Given the description of an element on the screen output the (x, y) to click on. 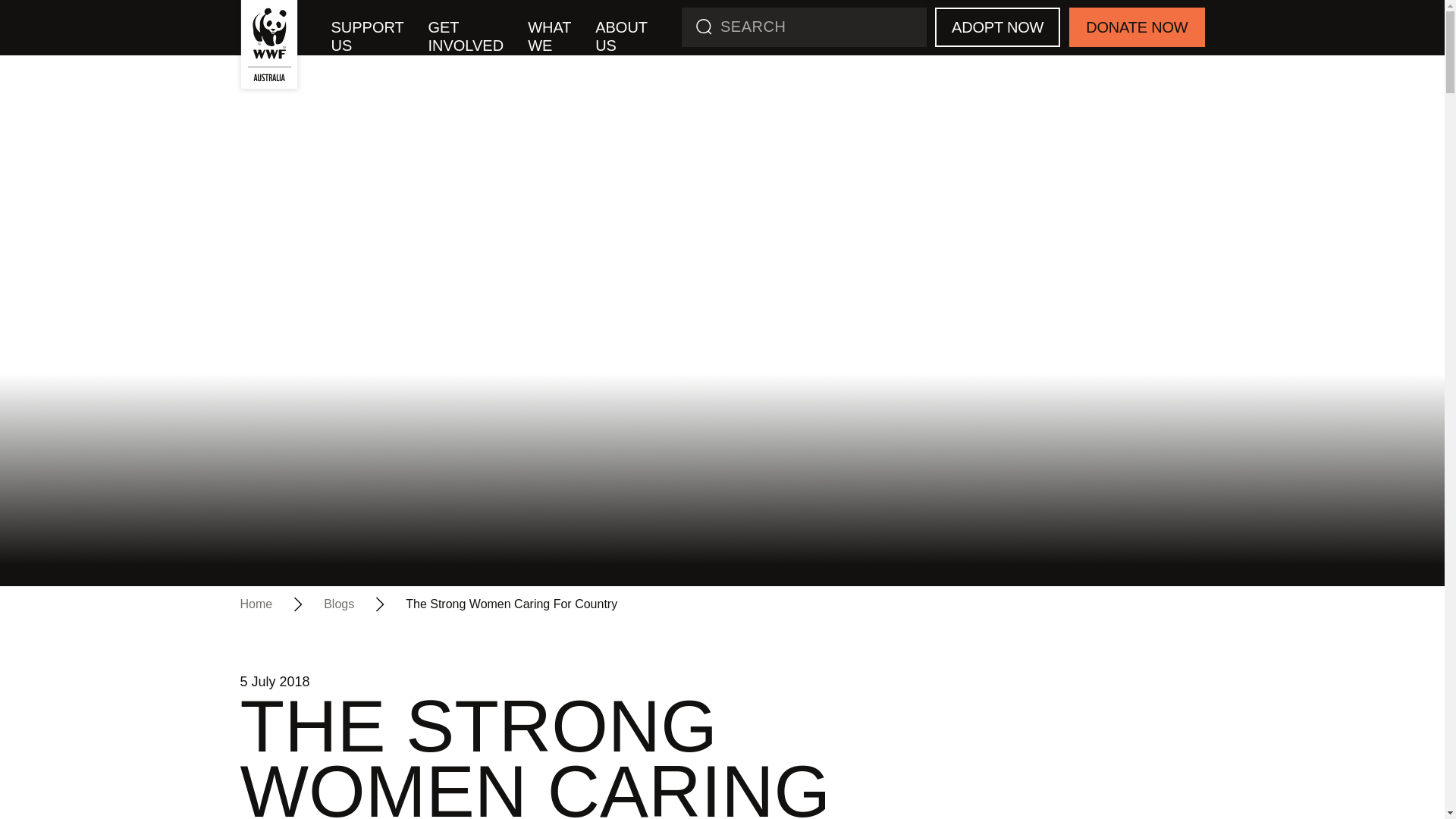
SUPPORT US (366, 36)
ABOUT US (621, 36)
GET INVOLVED (464, 36)
